Given the description of an element on the screen output the (x, y) to click on. 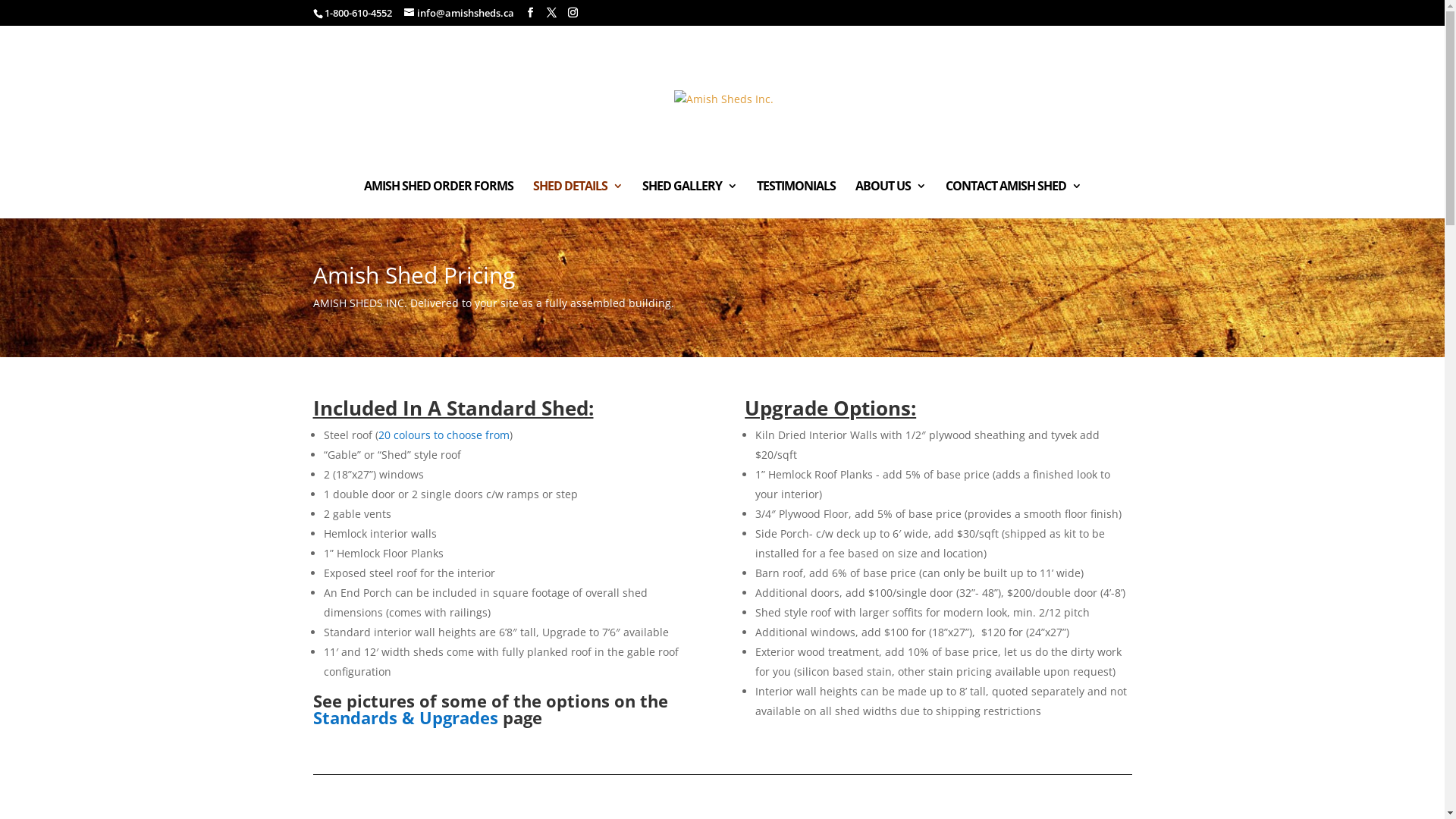
info@amishsheds.ca Element type: text (458, 12)
TESTIMONIALS Element type: text (795, 199)
CONTACT AMISH SHED Element type: text (1012, 199)
AMISH SHED ORDER FORMS Element type: text (438, 199)
Standards & Upgrades Element type: text (404, 717)
ABOUT US Element type: text (890, 199)
20 colours to choose from Element type: text (442, 434)
SHED DETAILS Element type: text (576, 199)
SHED GALLERY Element type: text (688, 199)
